Given the description of an element on the screen output the (x, y) to click on. 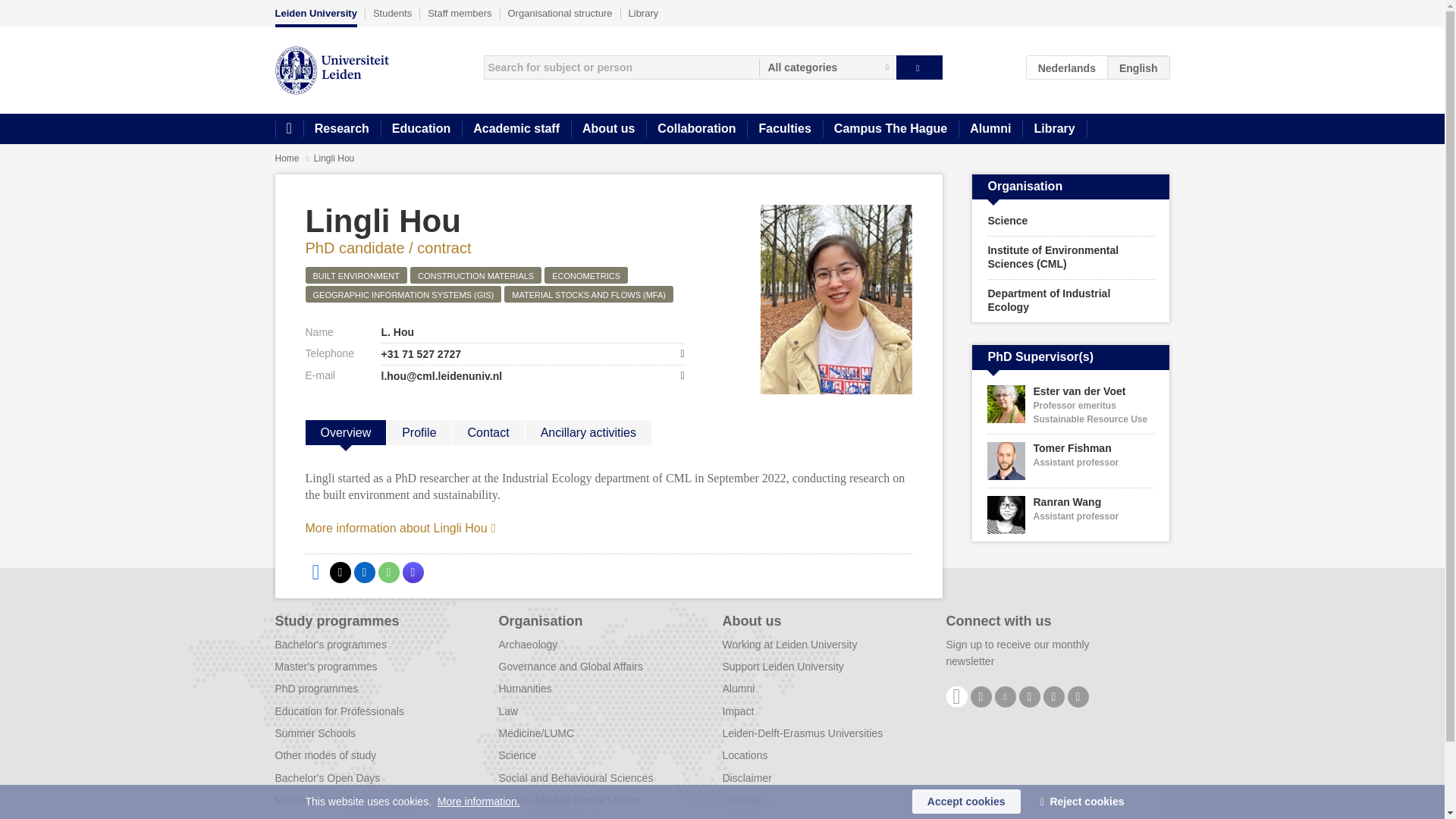
NL (1067, 67)
Home (288, 128)
Share on Facebook (315, 572)
Search (919, 67)
Campus The Hague (890, 128)
Library (643, 13)
Research (341, 128)
Share by Mastodon (412, 572)
Profile (418, 432)
CONSTRUCTION MATERIALS (475, 274)
